Given the description of an element on the screen output the (x, y) to click on. 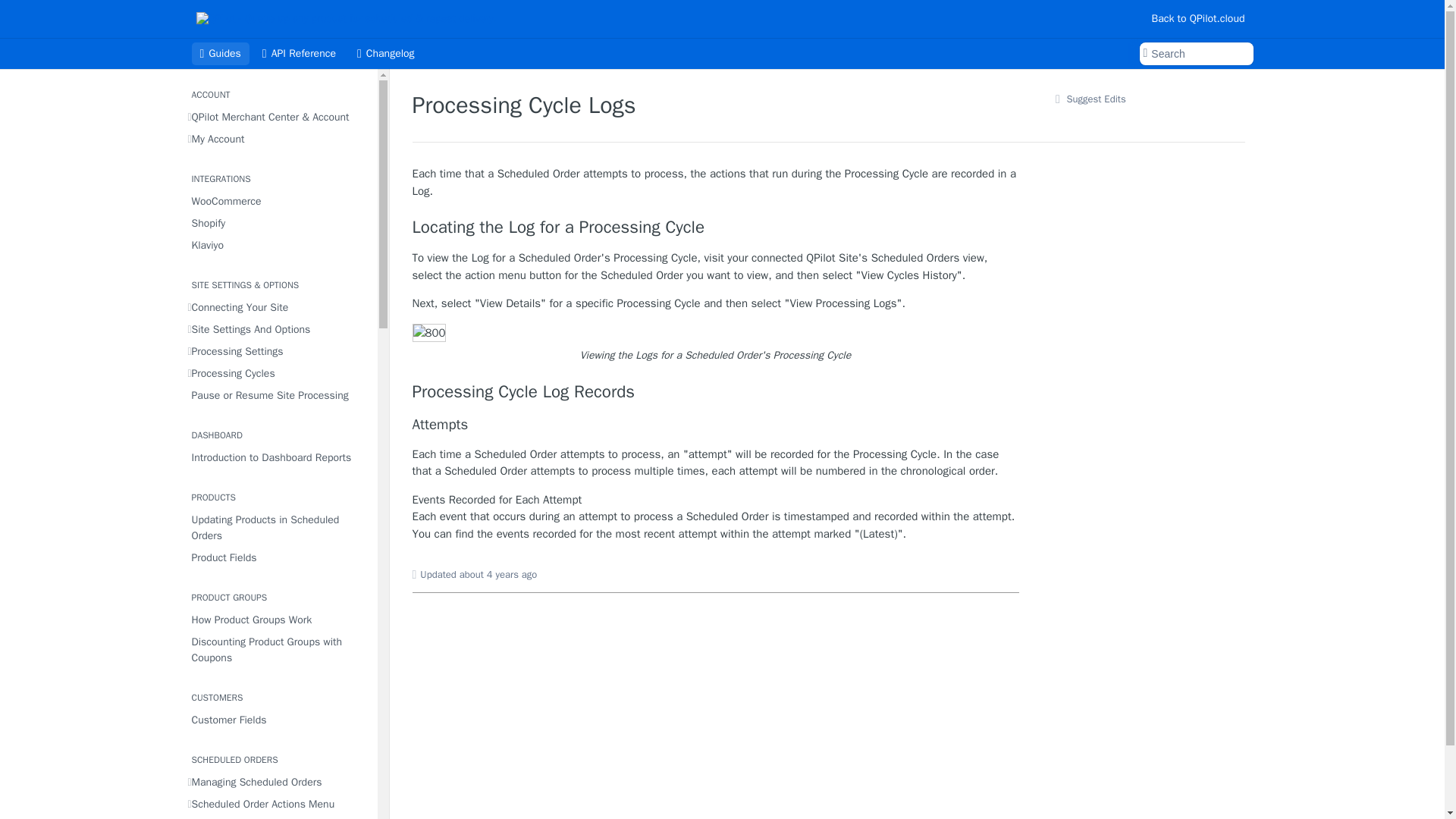
Back to QPilot.cloud (1197, 18)
Search (1195, 53)
Shopify (277, 222)
Attempts (715, 425)
Processing Cycles (277, 373)
Processing Cycle Log Records (715, 391)
Site Settings And Options (277, 329)
scheudled-order-processing-cycle-log-where-to-find.gif (429, 333)
Changelog (386, 53)
Klaviyo (277, 245)
